Given the description of an element on the screen output the (x, y) to click on. 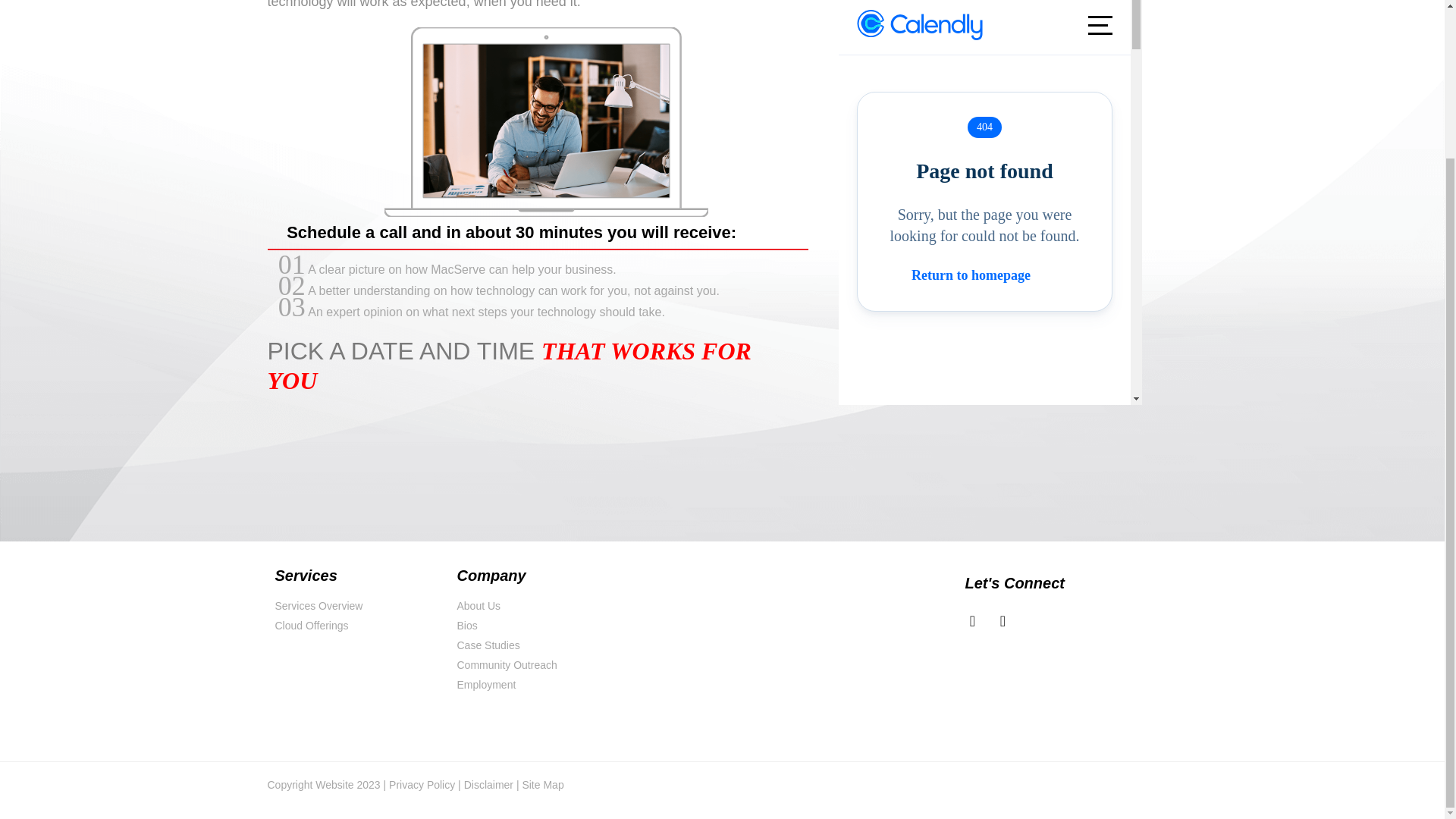
Copyright Website 2023 (323, 784)
Bios (540, 625)
About Us (540, 606)
Site Map (542, 784)
Case Studies (540, 645)
Disclaimer (487, 784)
Services Overview (358, 606)
Privacy Policy (421, 784)
Employment (540, 684)
Cloud Offerings (358, 625)
Community Outreach (540, 665)
